Given the description of an element on the screen output the (x, y) to click on. 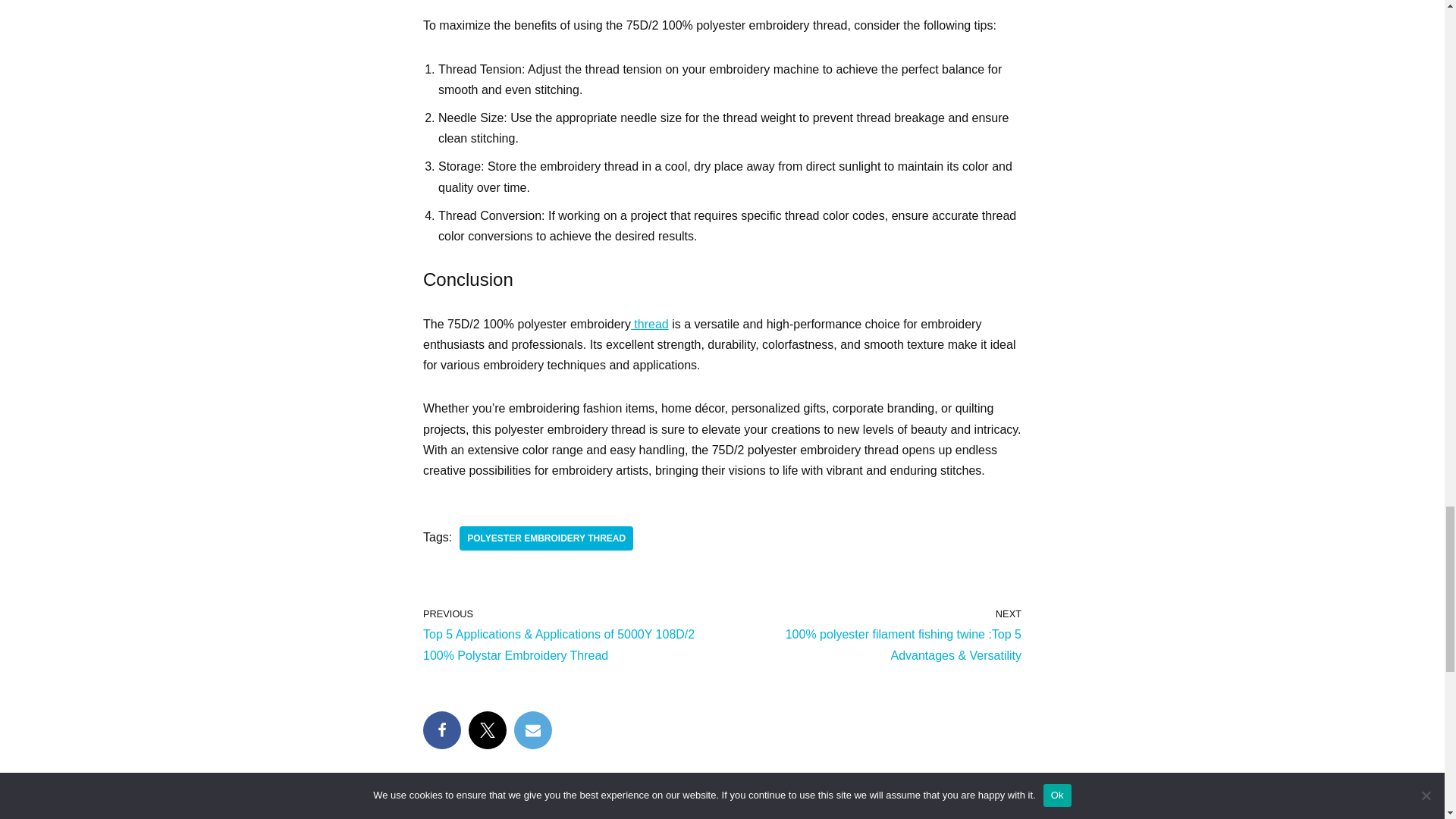
Email (532, 730)
X (487, 730)
Facebook (442, 730)
Polyester Embroidery Thread (546, 538)
